Given the description of an element on the screen output the (x, y) to click on. 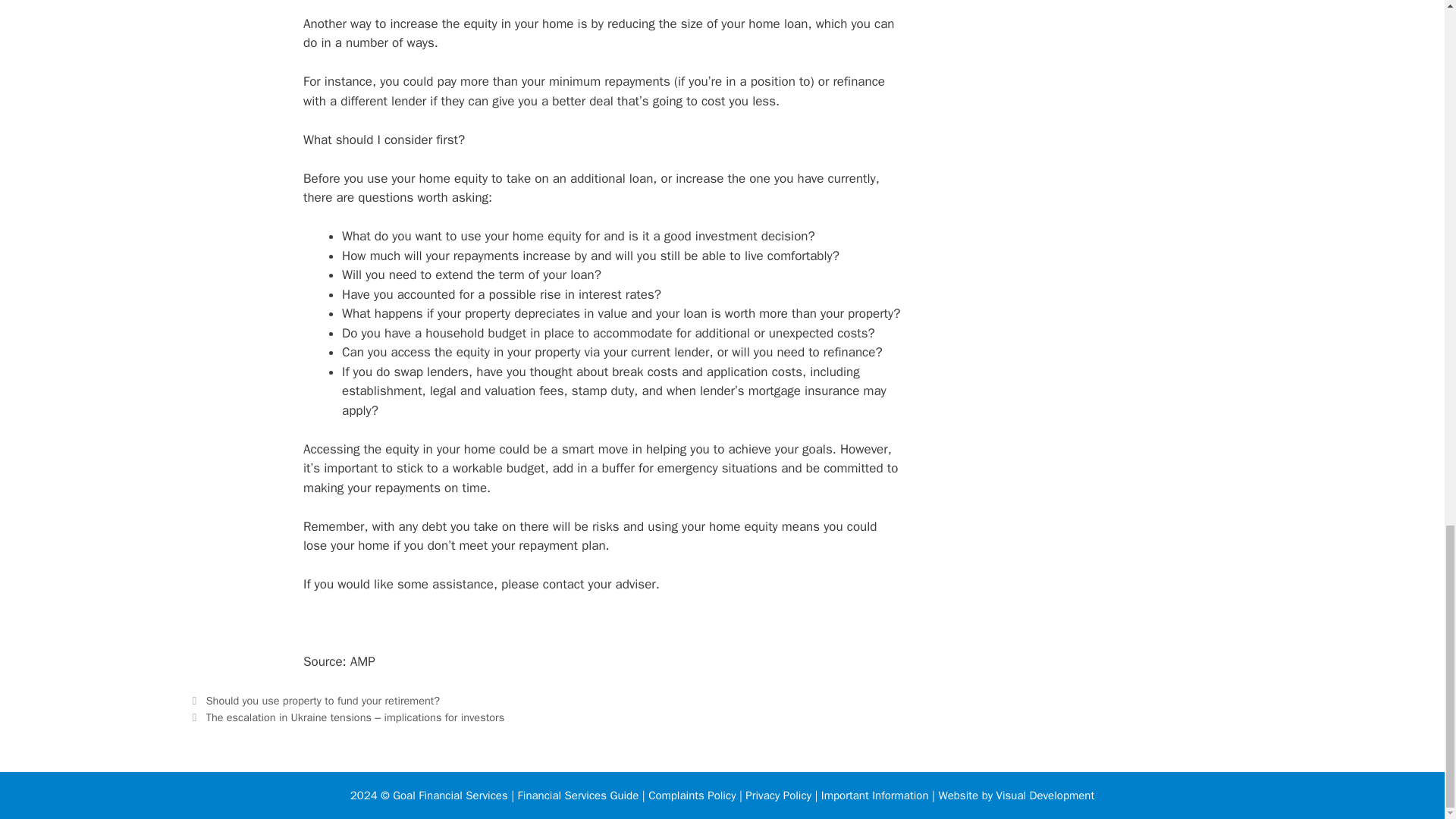
Should you use property to fund your retirement? (323, 700)
Scroll back to top (1406, 44)
